Given the description of an element on the screen output the (x, y) to click on. 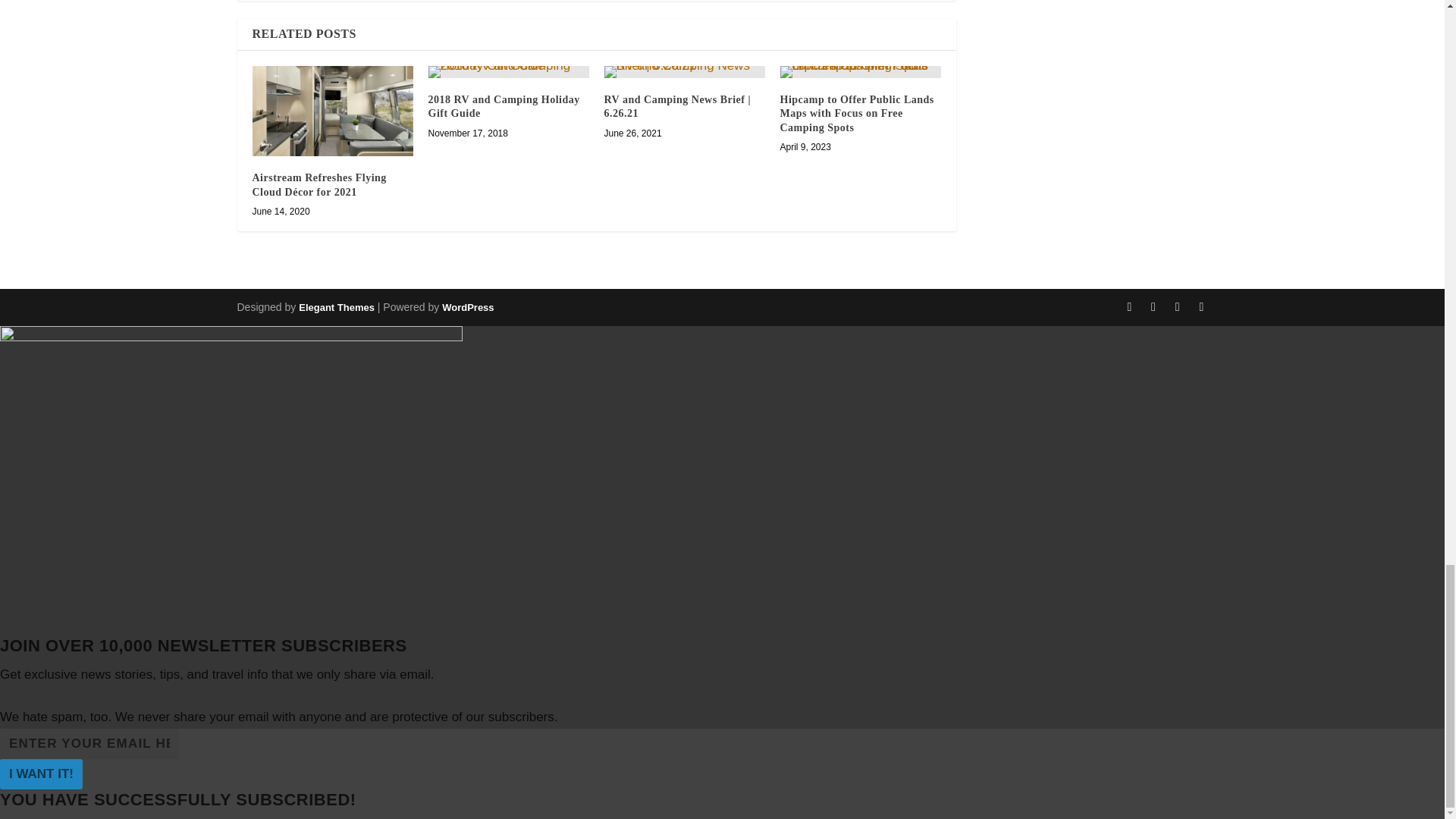
Premium WordPress Themes (336, 307)
2018 RV and Camping Holiday Gift Guide (508, 71)
